Given the description of an element on the screen output the (x, y) to click on. 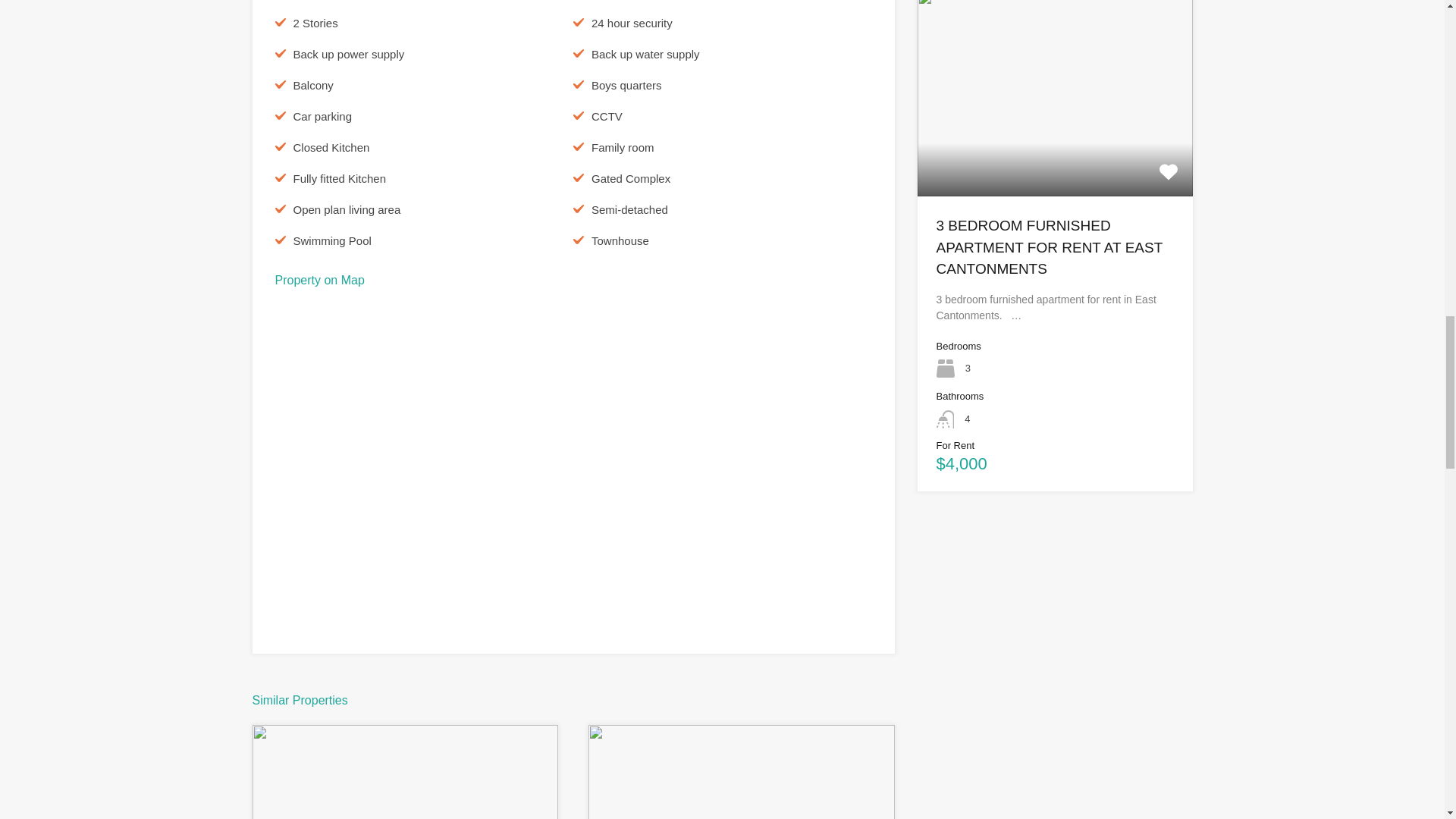
Back up power supply (348, 53)
24 hour security (631, 23)
2 Stories (314, 23)
